Given the description of an element on the screen output the (x, y) to click on. 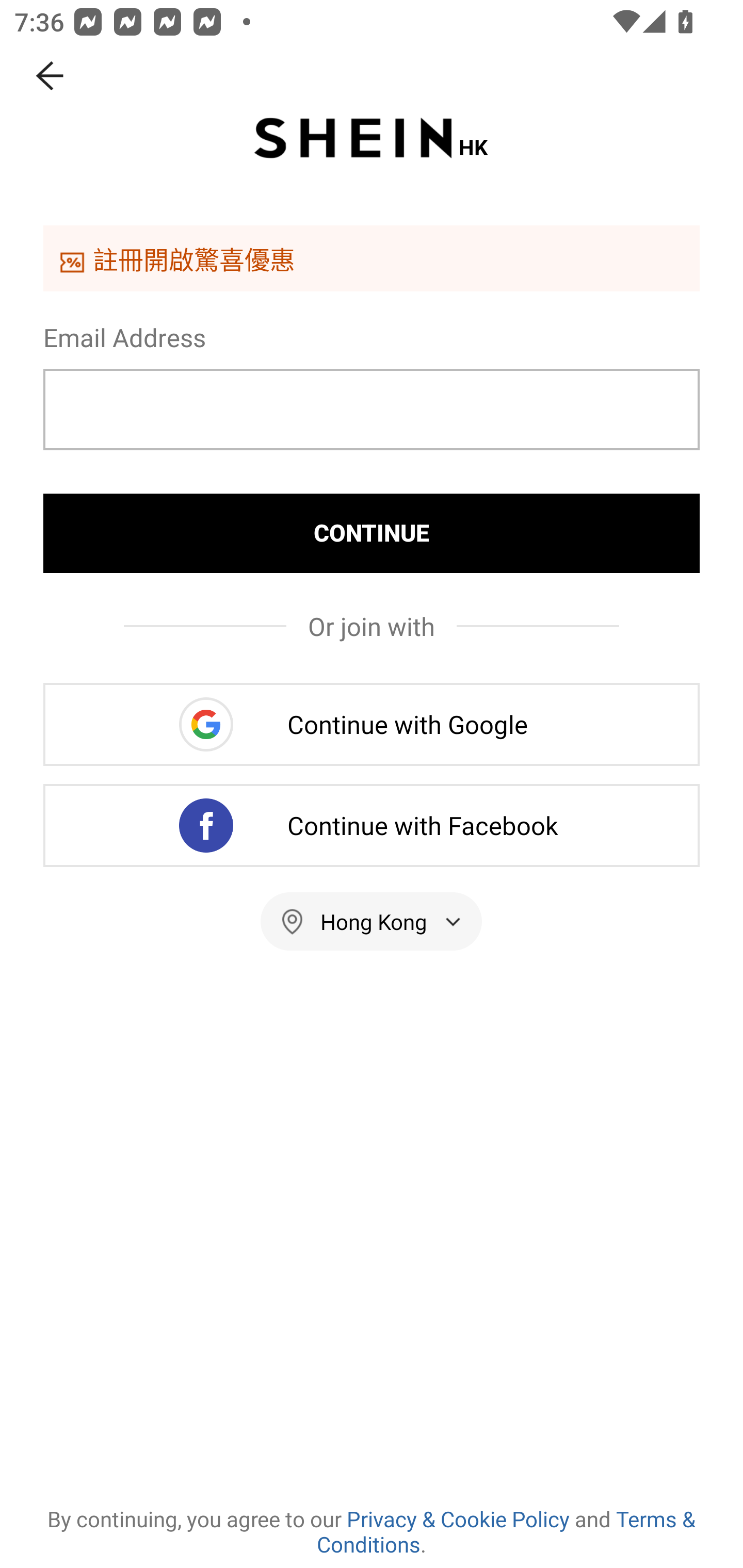
CLOSE (50, 75)
CONTINUE (371, 532)
Continue with Google (371, 724)
Continue with Facebook (371, 825)
Hong Kong (371, 921)
